Given the description of an element on the screen output the (x, y) to click on. 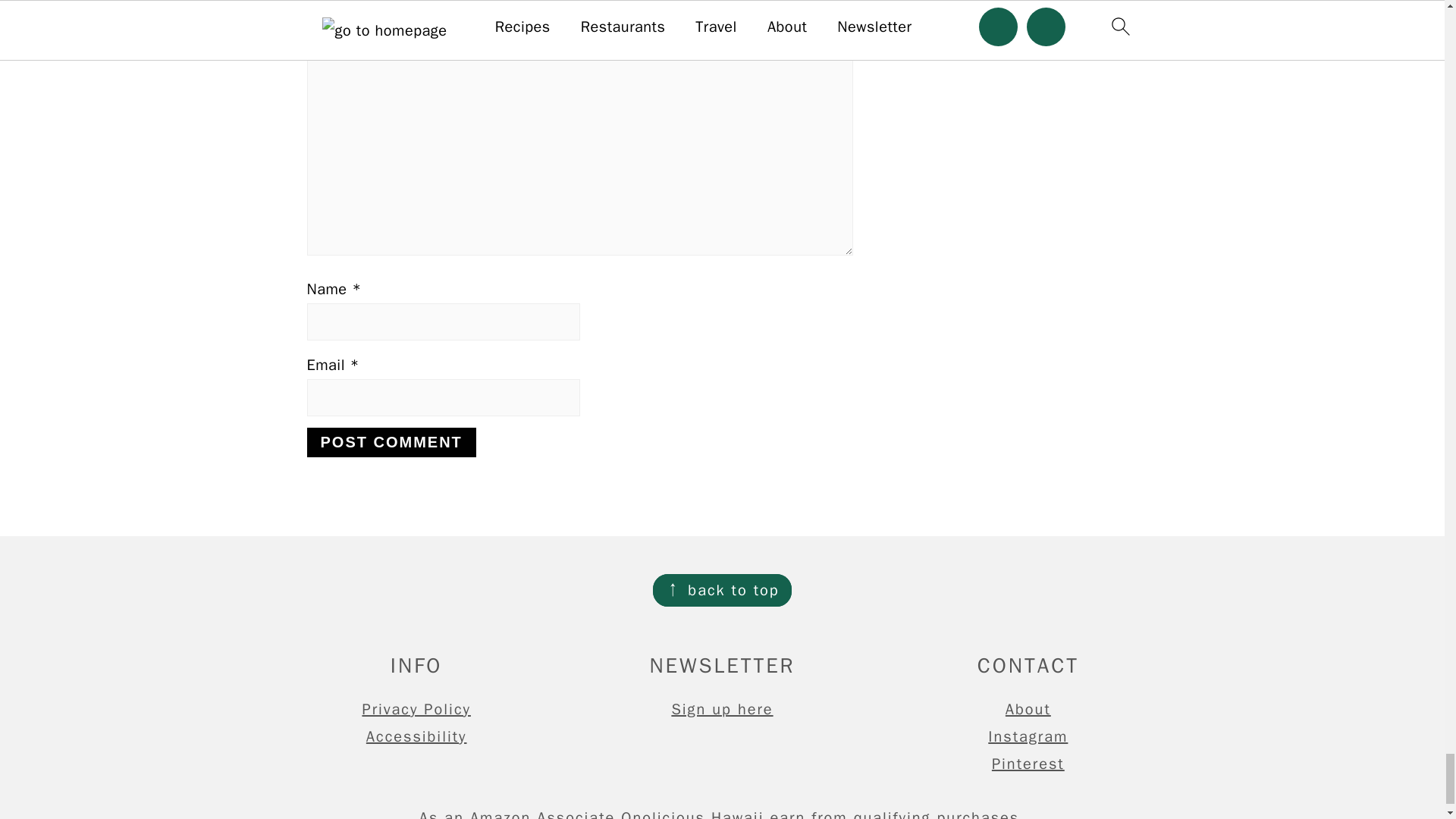
Post Comment (390, 442)
